Given the description of an element on the screen output the (x, y) to click on. 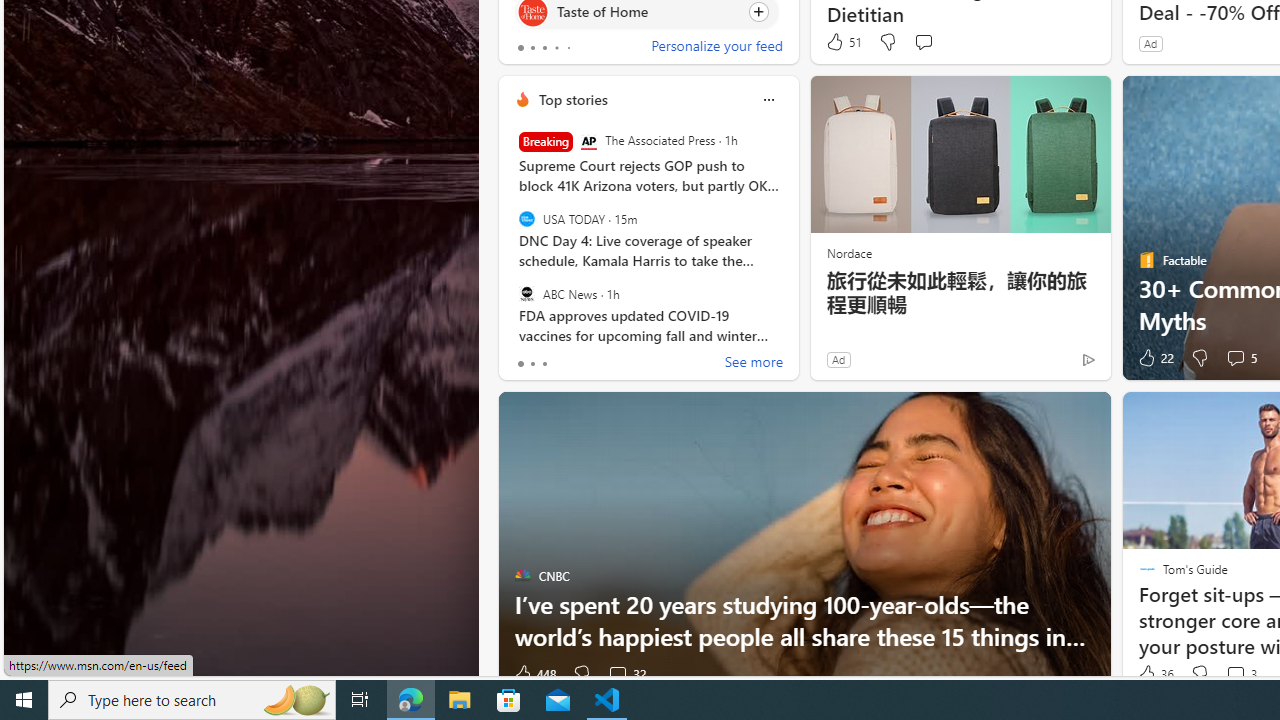
View comments 32 Comment (617, 673)
448 Like (534, 674)
